Given the description of an element on the screen output the (x, y) to click on. 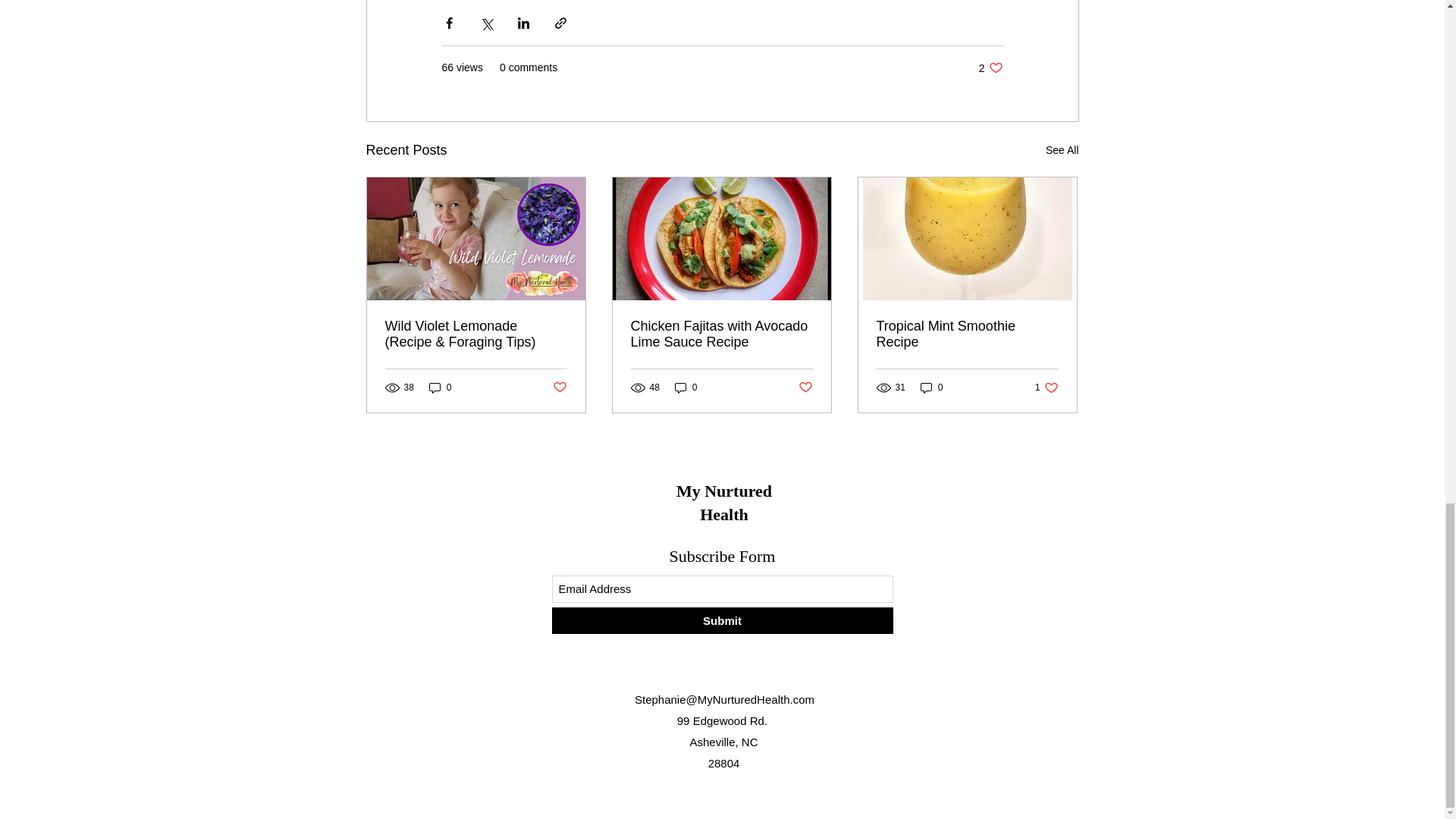
Post not marked as liked (804, 387)
See All (1061, 150)
Submit (722, 620)
Tropical Mint Smoothie Recipe (967, 334)
0 (931, 386)
0 (990, 67)
0 (685, 386)
Chicken Fajitas with Avocado Lime Sauce Recipe (440, 386)
Post not marked as liked (1046, 386)
